Given the description of an element on the screen output the (x, y) to click on. 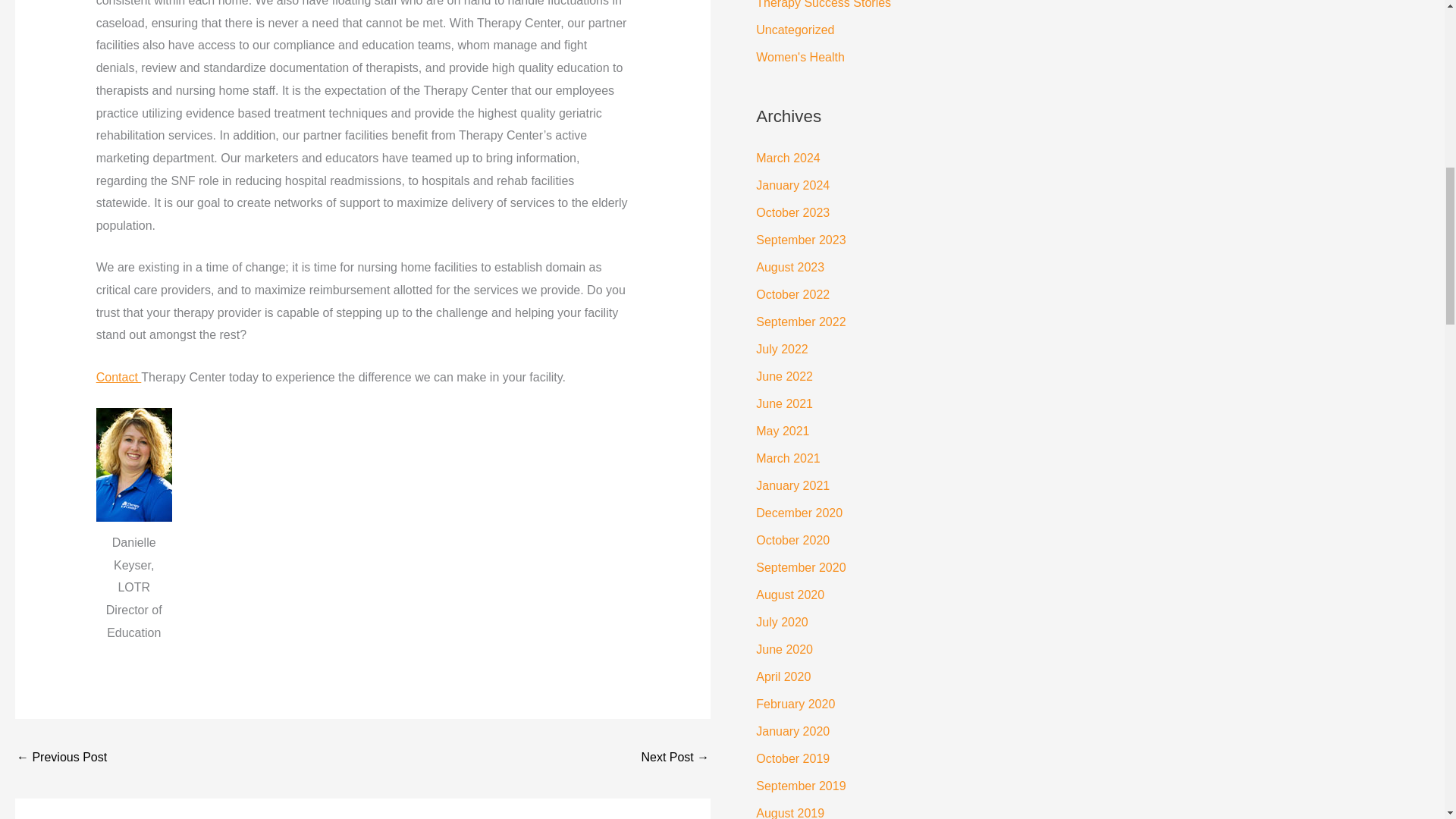
Contact (118, 377)
HUGE milestone in therapy cap repeal (674, 758)
Accepting an Offer: Making a Decision (61, 758)
